Given the description of an element on the screen output the (x, y) to click on. 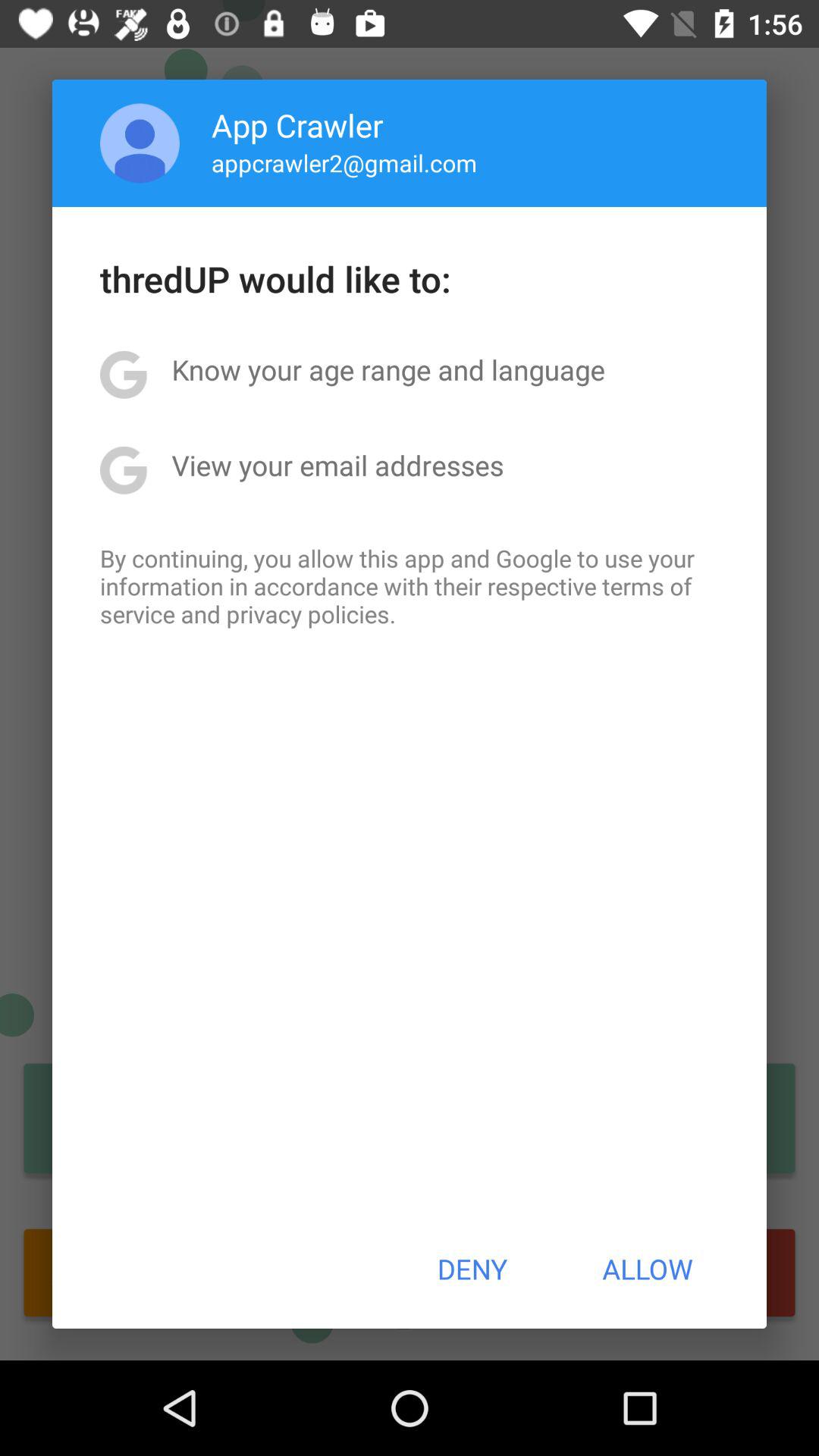
select know your age (388, 369)
